Given the description of an element on the screen output the (x, y) to click on. 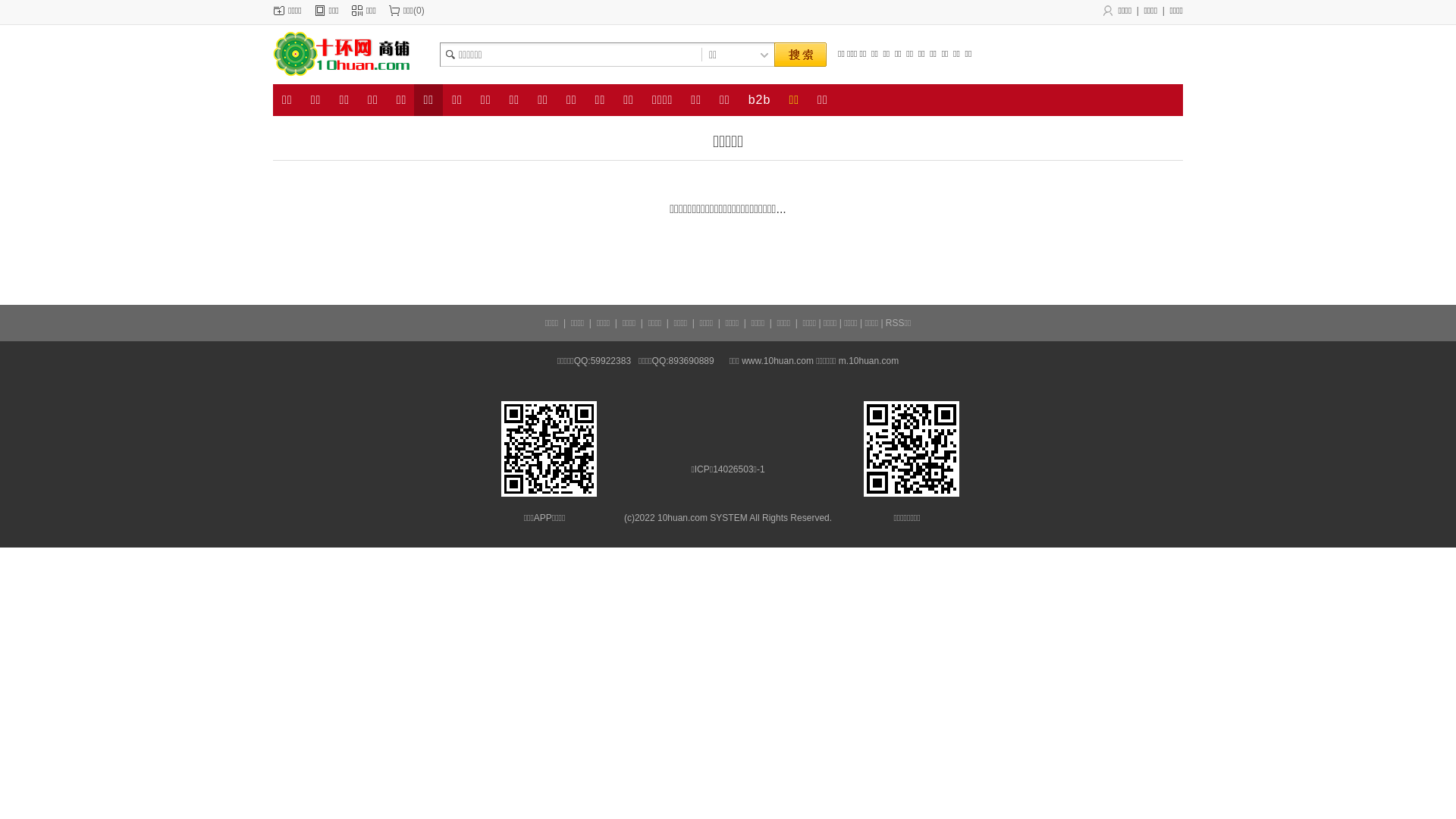
b2b Element type: text (759, 100)
  Element type: text (799, 54)
www.10huan.com Element type: text (777, 360)
m.10huan.com Element type: text (868, 360)
